Given the description of an element on the screen output the (x, y) to click on. 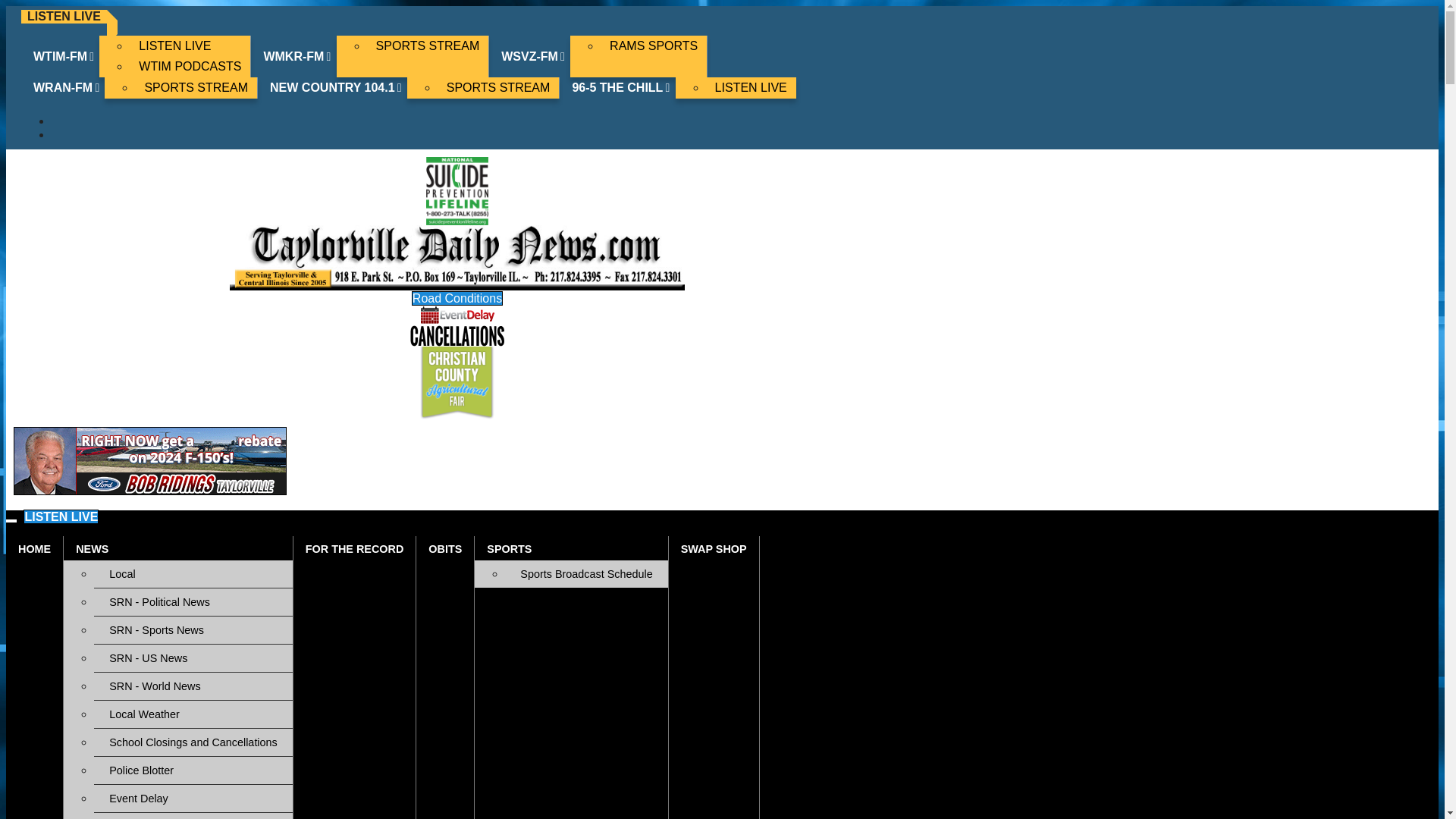
SRN - Political News (193, 601)
LISTEN LIVE (61, 516)
SRN - Sports News (193, 629)
LISTEN LIVE (189, 46)
96-5 THE CHILL (622, 87)
SPORTS STREAM (196, 87)
Event Delay (193, 798)
NEWS (178, 548)
WSVZ-FM (533, 56)
Local Weather (193, 714)
NEW COUNTRY 104.1 (336, 87)
SPORTS STREAM (427, 46)
WRAN-FM (67, 87)
Road Conditions (193, 816)
SRN - World News (193, 686)
